Given the description of an element on the screen output the (x, y) to click on. 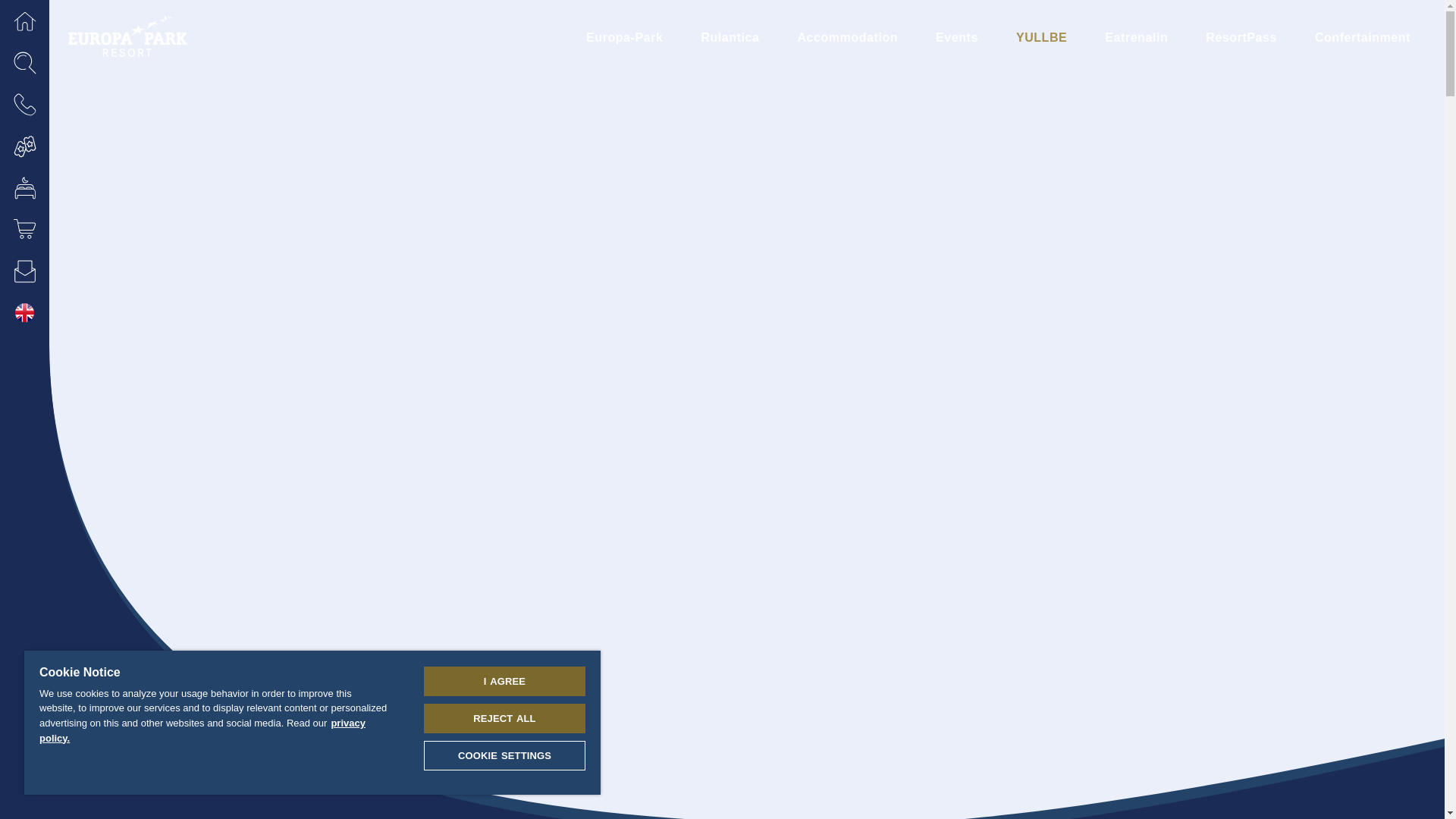
Accommodation (847, 38)
Ticketshop (24, 146)
Eatrenalin (1136, 38)
Search (24, 62)
Events (957, 38)
ResortPass (1240, 38)
Online shop (24, 229)
Europa-Park (624, 38)
Rulantica (729, 38)
Confertainment (1362, 38)
Areas (24, 20)
Booking (24, 187)
Contact (24, 104)
Newsletter (24, 270)
Language (24, 312)
